Given the description of an element on the screen output the (x, y) to click on. 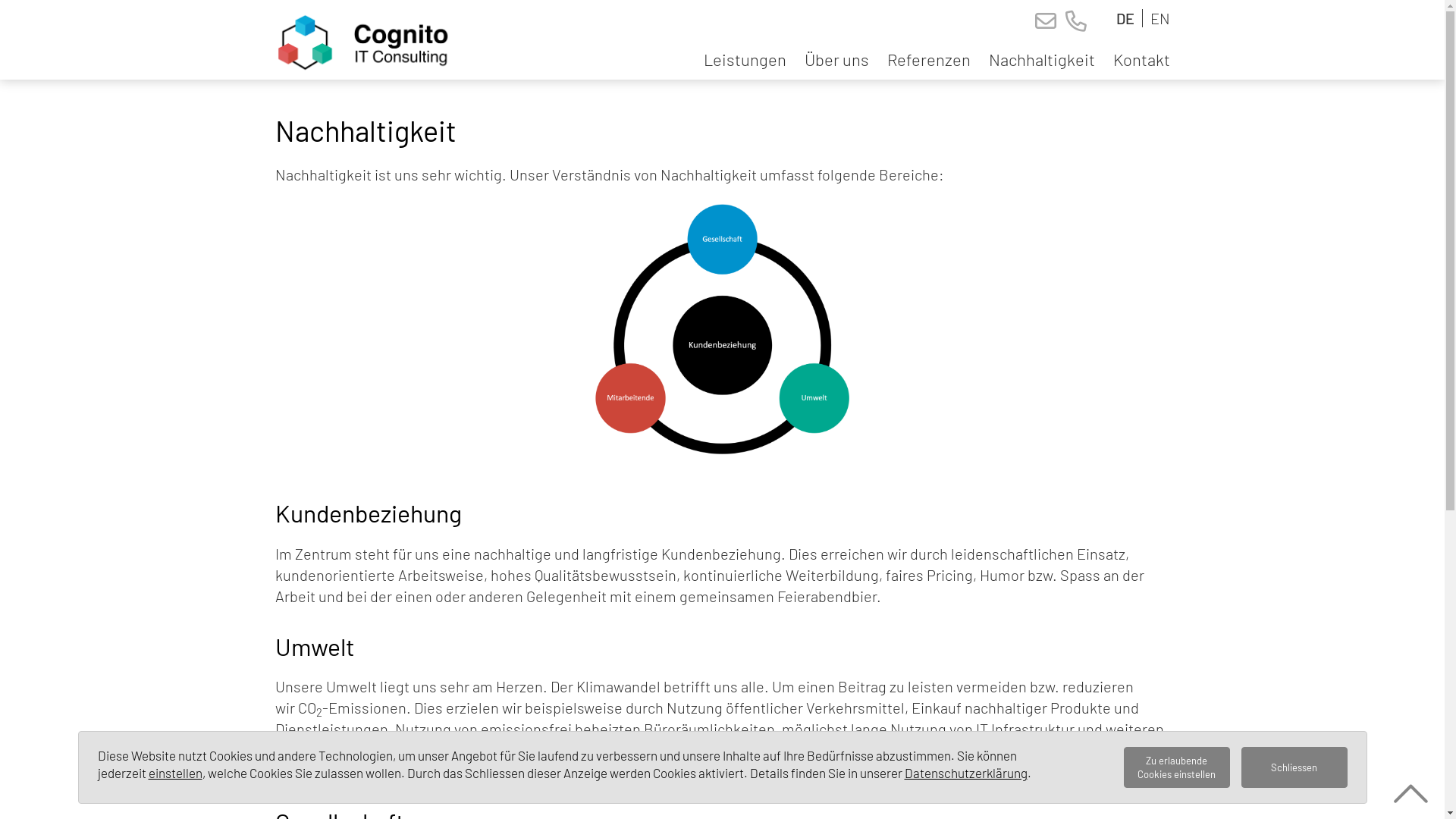
Kontakt Element type: text (1137, 59)
EN Element type: text (1159, 18)
Zu erlaubende Cookies einstellen Element type: text (1176, 766)
Referenzen Element type: text (928, 59)
Schliessen Element type: text (1293, 766)
Climeworks Element type: text (981, 749)
DE Element type: text (1125, 18)
Nachhaltigkeit Element type: text (1041, 59)
Leistungen Element type: text (744, 59)
